Given the description of an element on the screen output the (x, y) to click on. 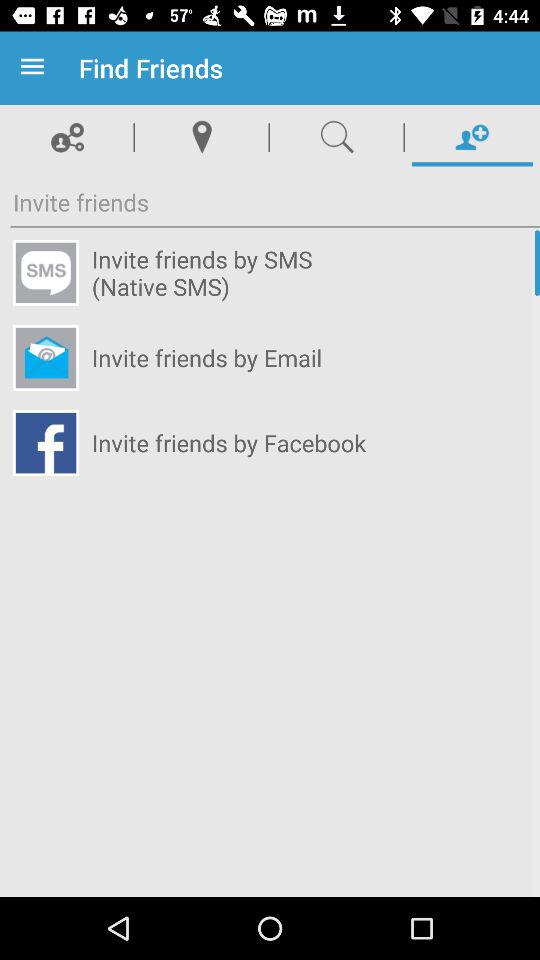
click the item to the left of find friends item (36, 68)
